Given the description of an element on the screen output the (x, y) to click on. 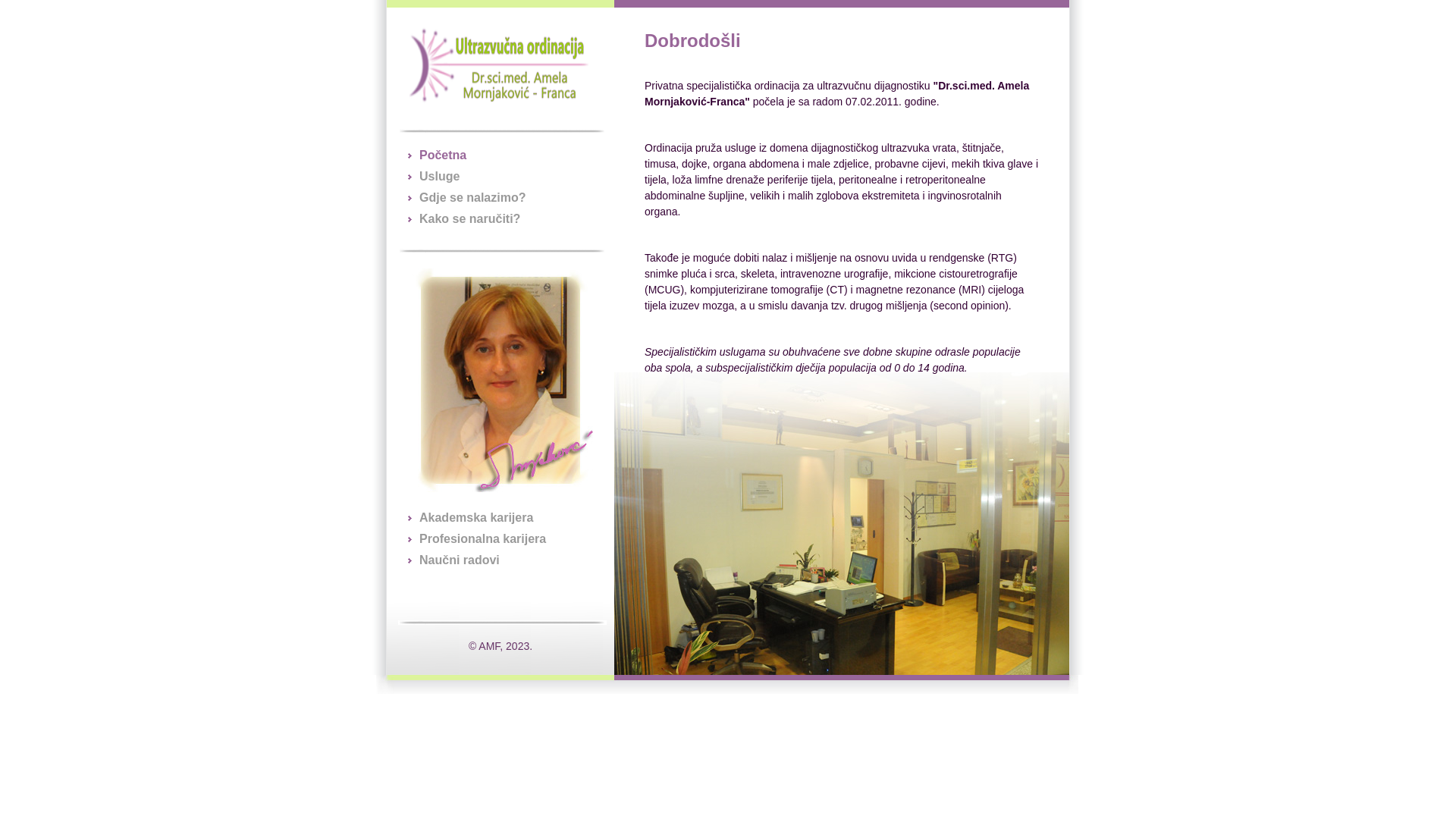
Usluge Element type: text (439, 175)
Akademska karijera Element type: text (476, 517)
Profesionalna karijera Element type: text (482, 538)
Gdje se nalazimo? Element type: text (472, 197)
